Given the description of an element on the screen output the (x, y) to click on. 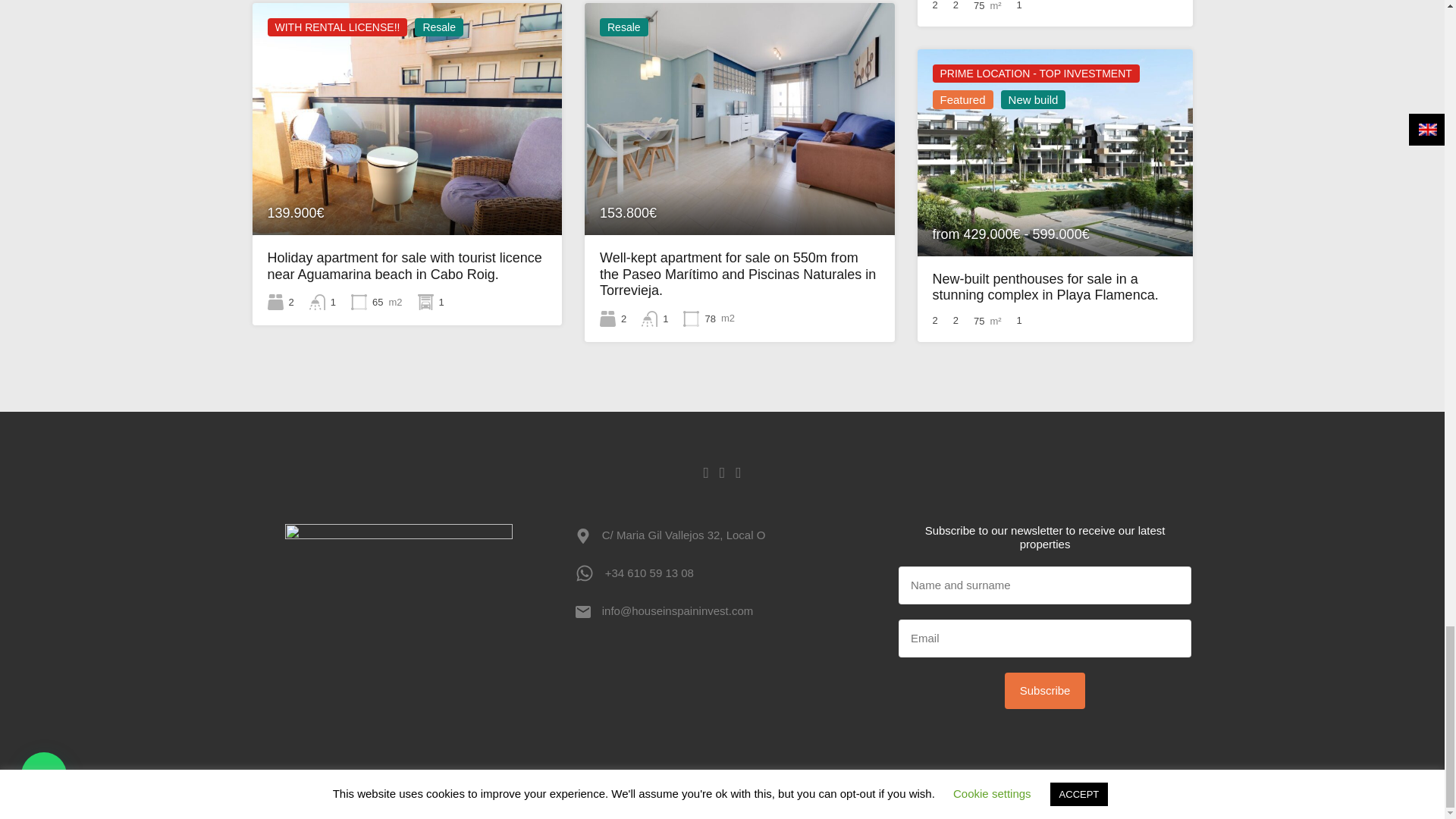
Subscribe (1045, 690)
